Given the description of an element on the screen output the (x, y) to click on. 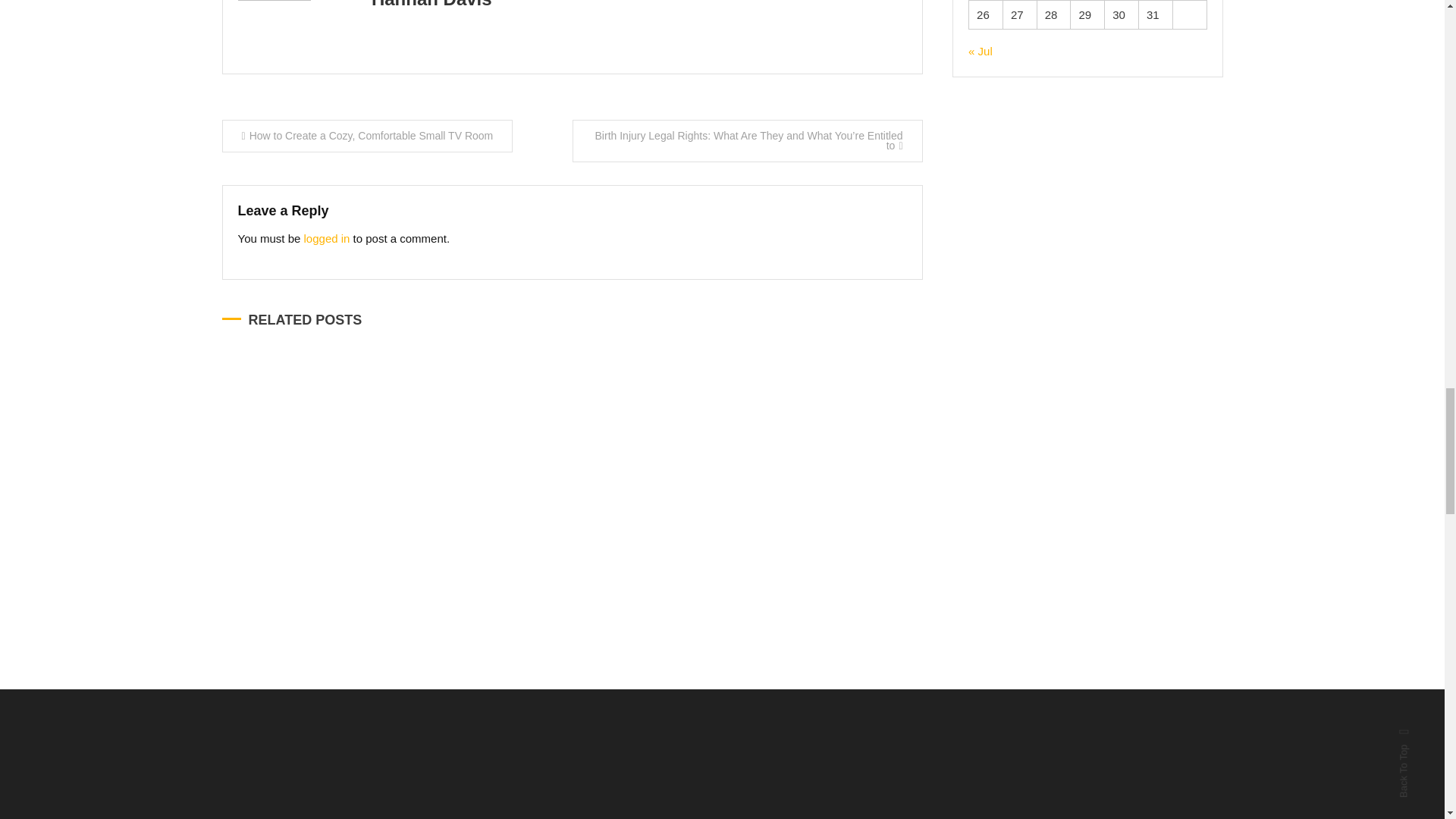
Posts by Hannah Davis (431, 4)
